Given the description of an element on the screen output the (x, y) to click on. 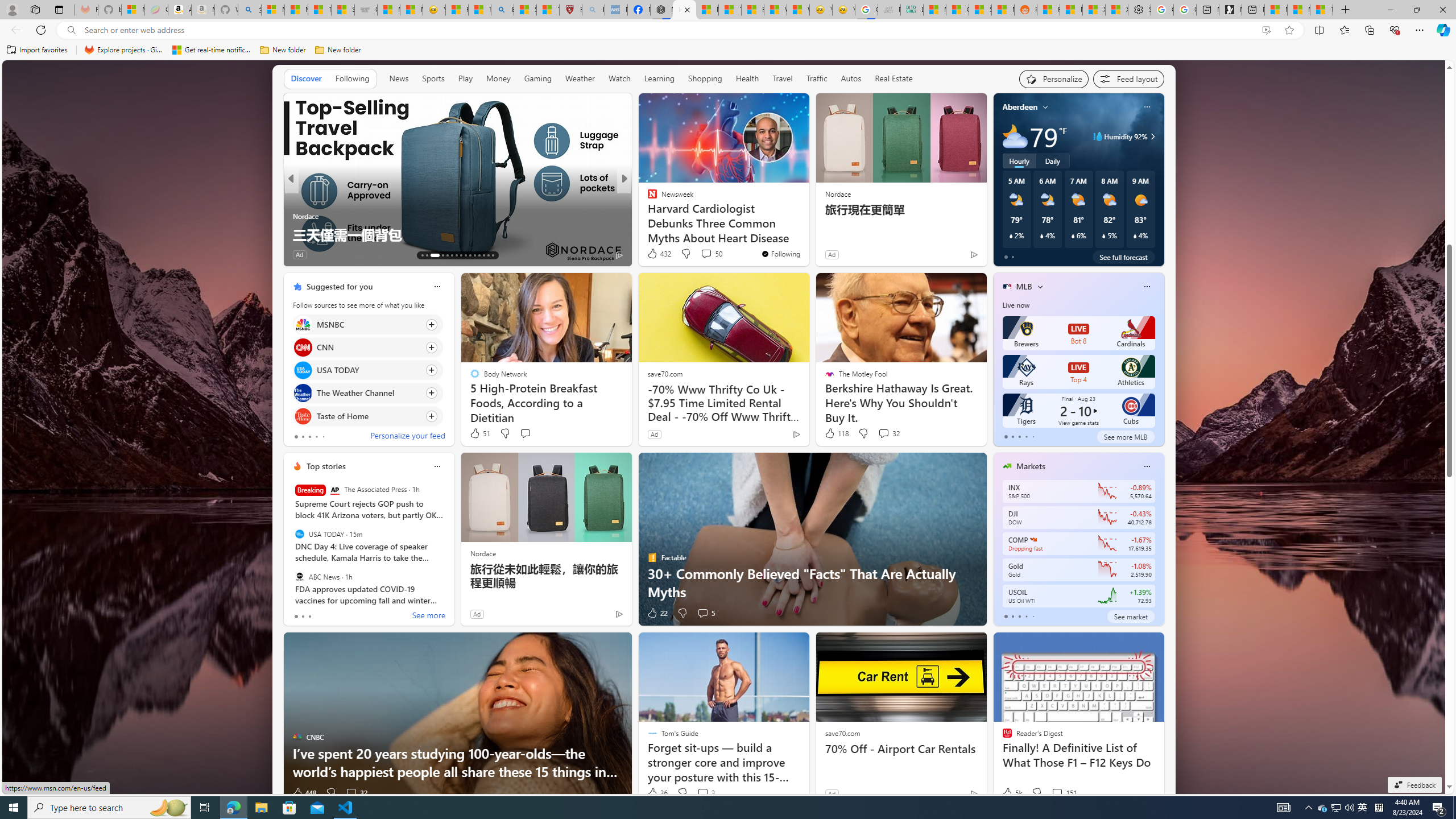
tab-3 (1025, 616)
My location (1045, 106)
Irish Star (647, 215)
Body Network (647, 215)
AutomationID: tab-77 (478, 255)
ABC News (299, 576)
AutomationID: tab-72 (456, 255)
Favorites bar (728, 49)
AutomationID: tab-68 (431, 255)
432 Like (658, 253)
